Given the description of an element on the screen output the (x, y) to click on. 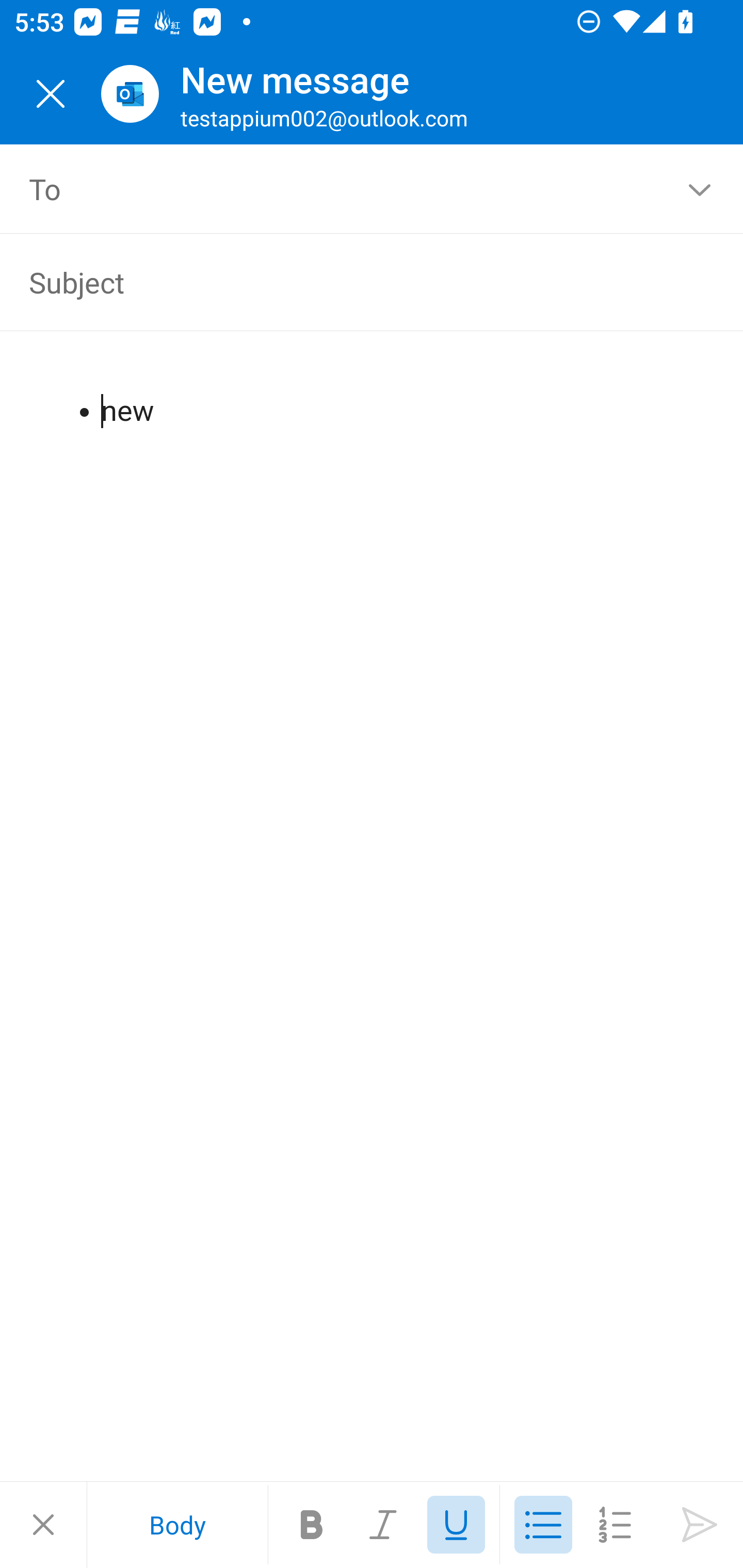
Close (50, 93)
Subject (342, 281)

• new (372, 394)
Close (43, 1524)
Send (699, 1524)
Font style button body Body (176, 1524)
Bold (311, 1524)
Italics (384, 1524)
Selected Underline (456, 1524)
Bulleted list (543, 1524)
Numbered list (615, 1524)
